Given the description of an element on the screen output the (x, y) to click on. 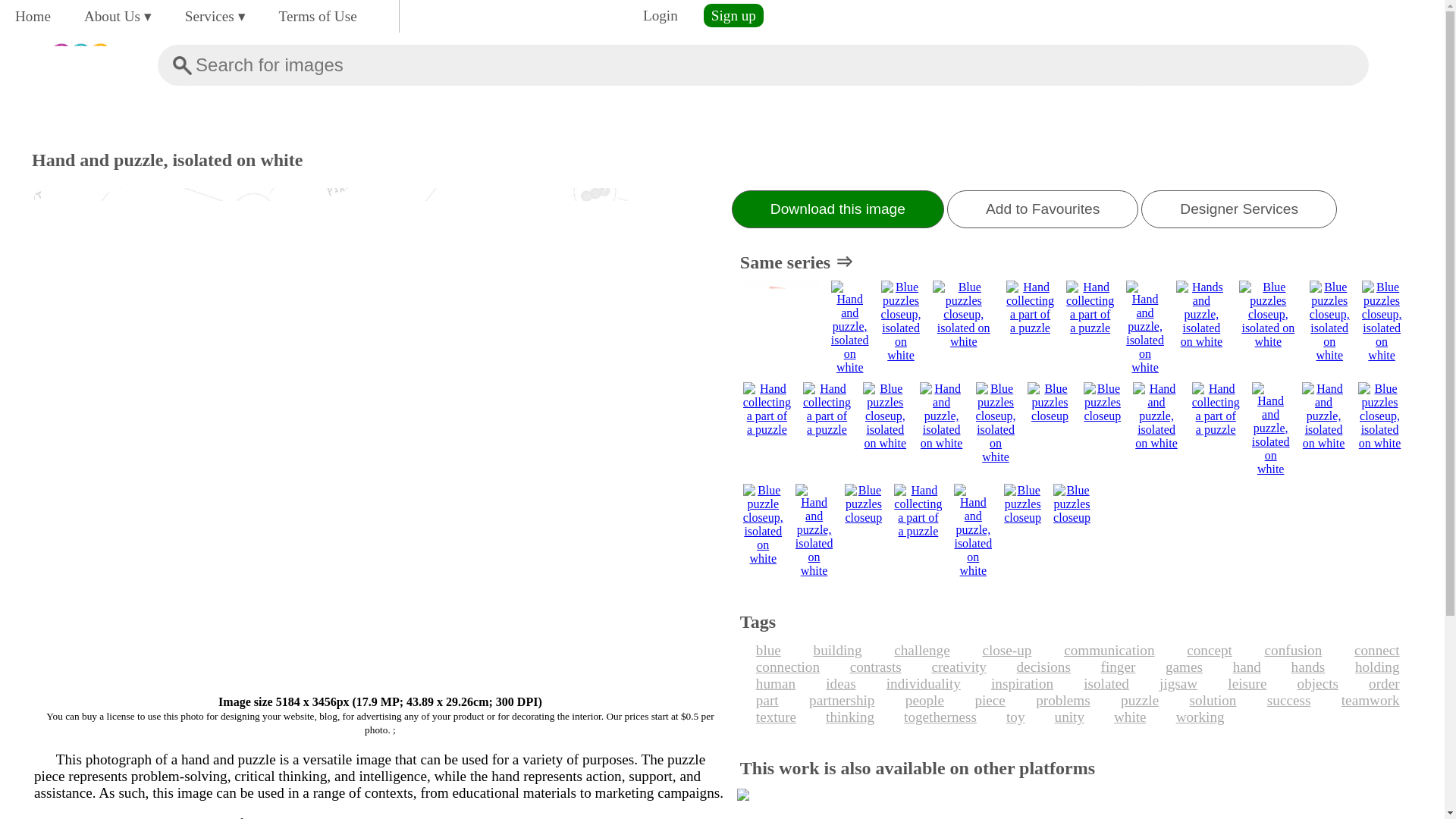
Add to Favourites (1042, 209)
Download this image (837, 209)
Terms of Use (317, 15)
Sign up (732, 15)
Home (32, 15)
Home (32, 15)
Login (659, 15)
Terms of Use (317, 15)
About us (117, 15)
